Given the description of an element on the screen output the (x, y) to click on. 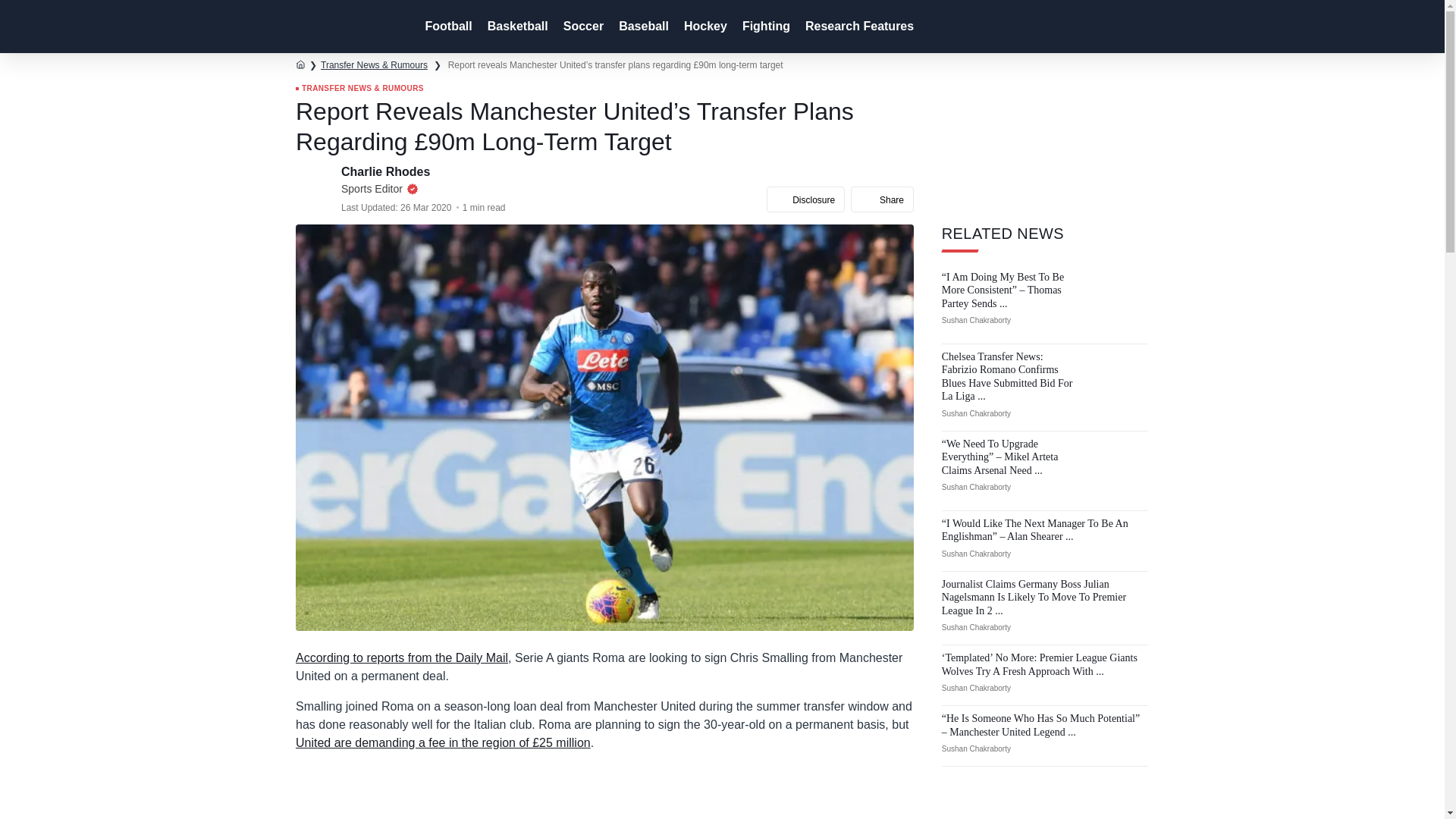
Charlie Rhodes (386, 171)
Soccer (582, 26)
Research Features (858, 26)
According to reports from the Daily Mail (401, 657)
Share (882, 199)
Hockey (704, 26)
Baseball (642, 26)
Fighting (764, 26)
Basketball (516, 26)
Football (445, 26)
